Given the description of an element on the screen output the (x, y) to click on. 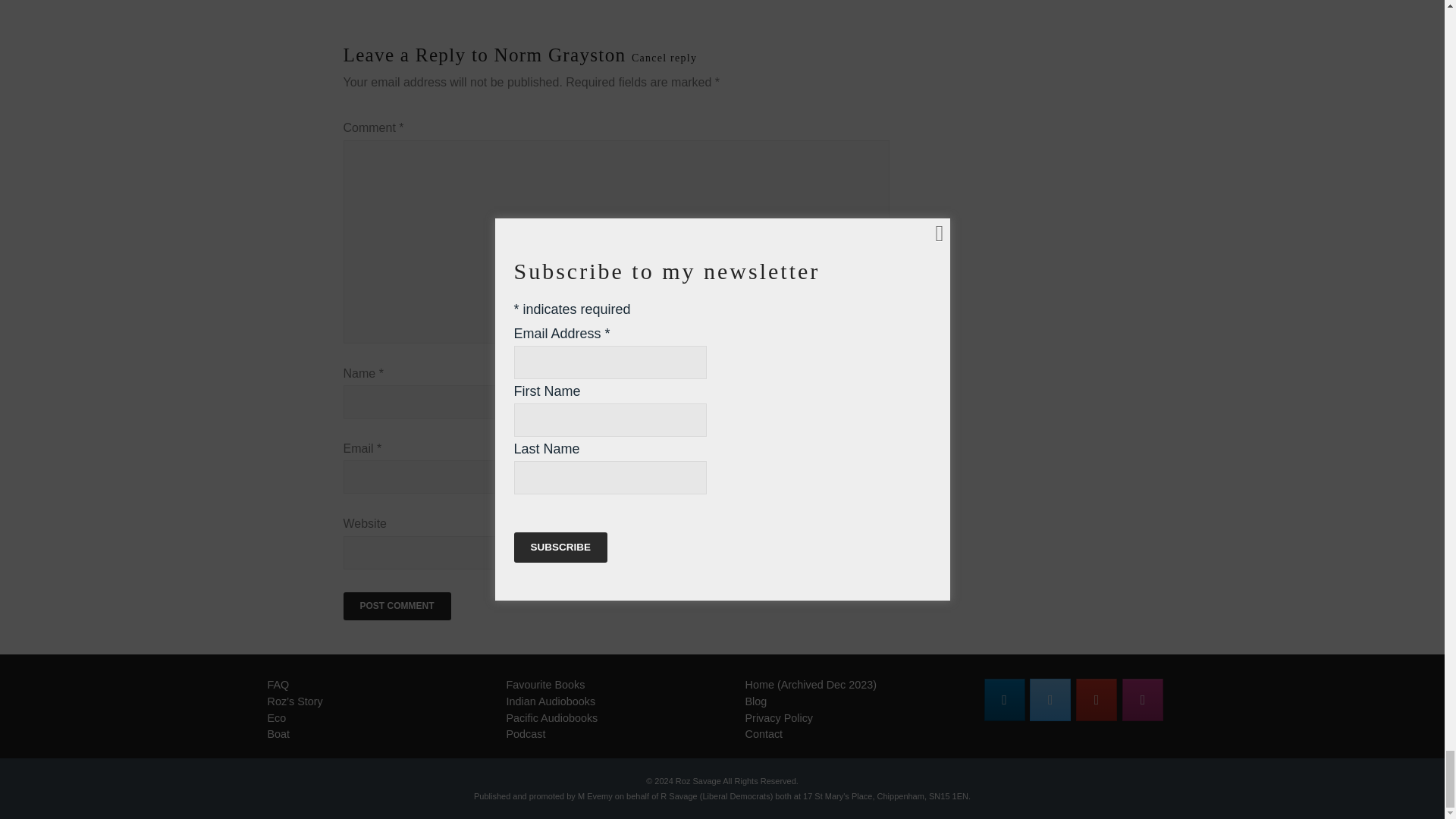
Post Comment (395, 606)
Roz Savage on Linkedin (1004, 699)
Roz Savage on X Twitter (1049, 699)
Roz Savage on Youtube (1095, 699)
Roz Savage on Instagram (1142, 699)
